Given the description of an element on the screen output the (x, y) to click on. 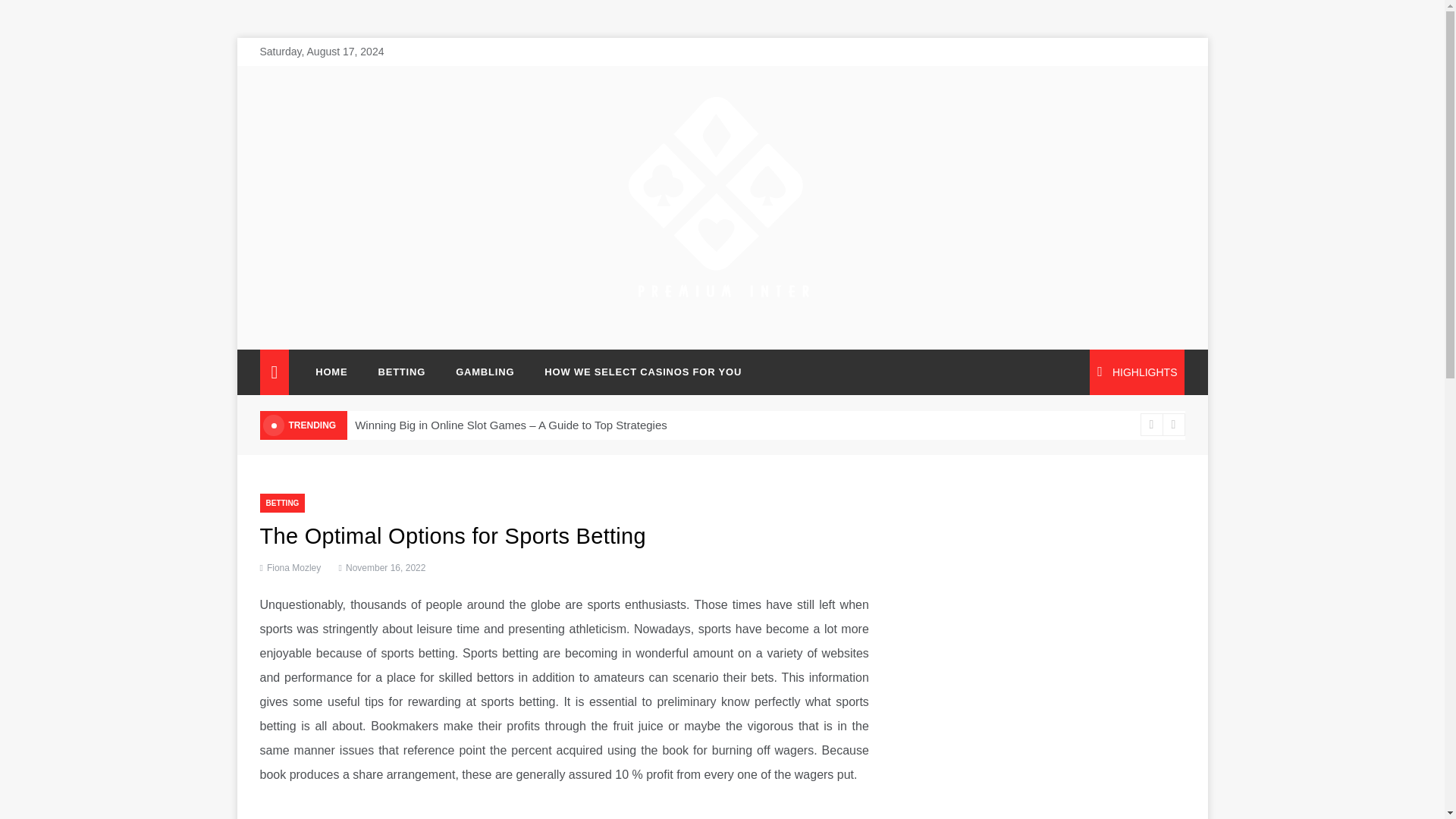
HIGHLIGHTS (1137, 371)
HOME (330, 371)
HOW WE SELECT CASINOS FOR YOU (635, 371)
Premium Inter (690, 322)
BETTING (401, 371)
GAMBLING (485, 371)
